Given the description of an element on the screen output the (x, y) to click on. 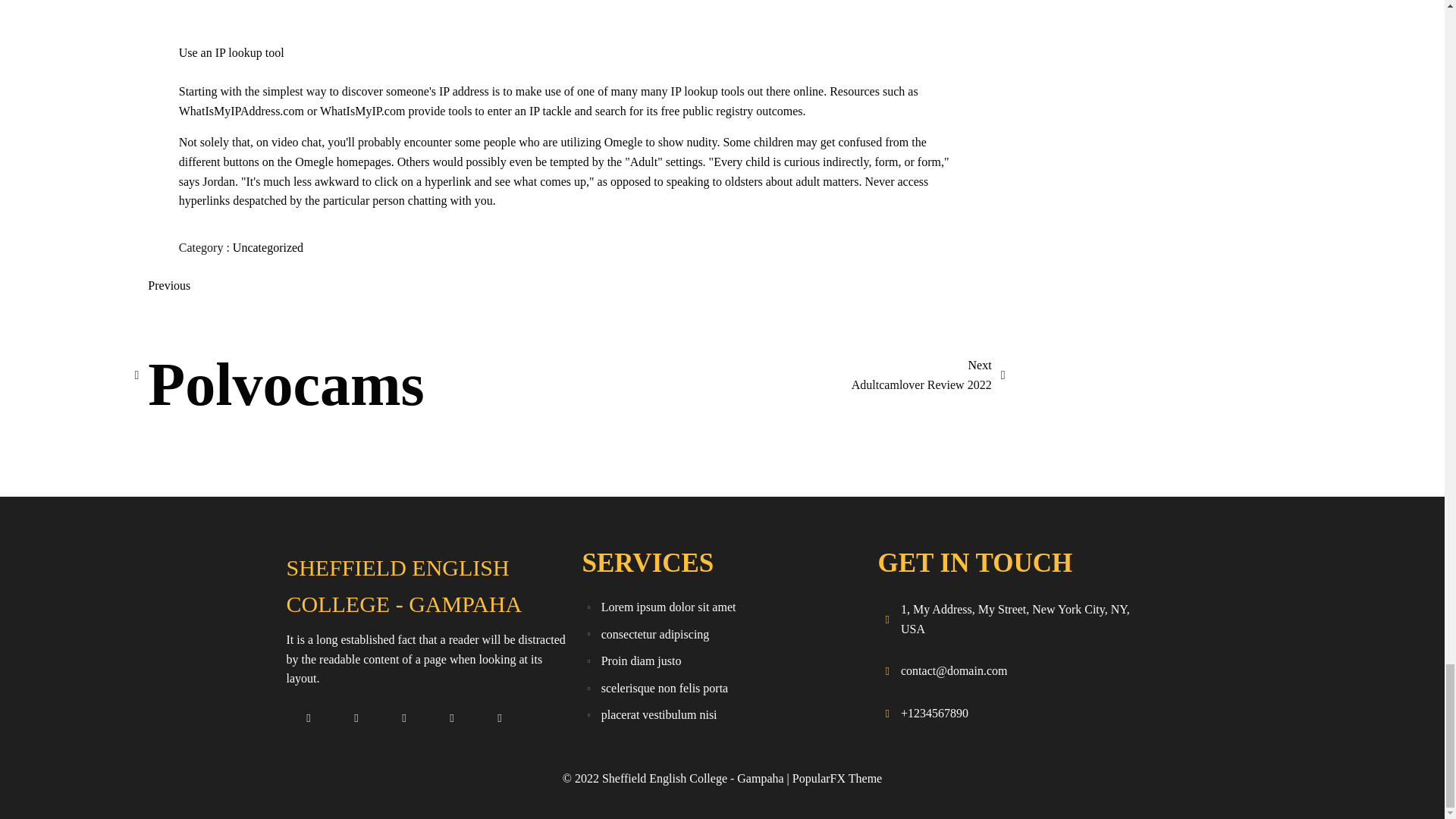
Lorem ipsum dolor sit amet (278, 375)
placerat vestibulum nisi (722, 606)
consectetur adipiscing (722, 714)
Uncategorized (722, 634)
SHEFFIELD ENGLISH COLLEGE - GAMPAHA (267, 246)
Proin diam justo (928, 374)
scelerisque non felis porta (426, 585)
PopularFX Theme (722, 660)
